Given the description of an element on the screen output the (x, y) to click on. 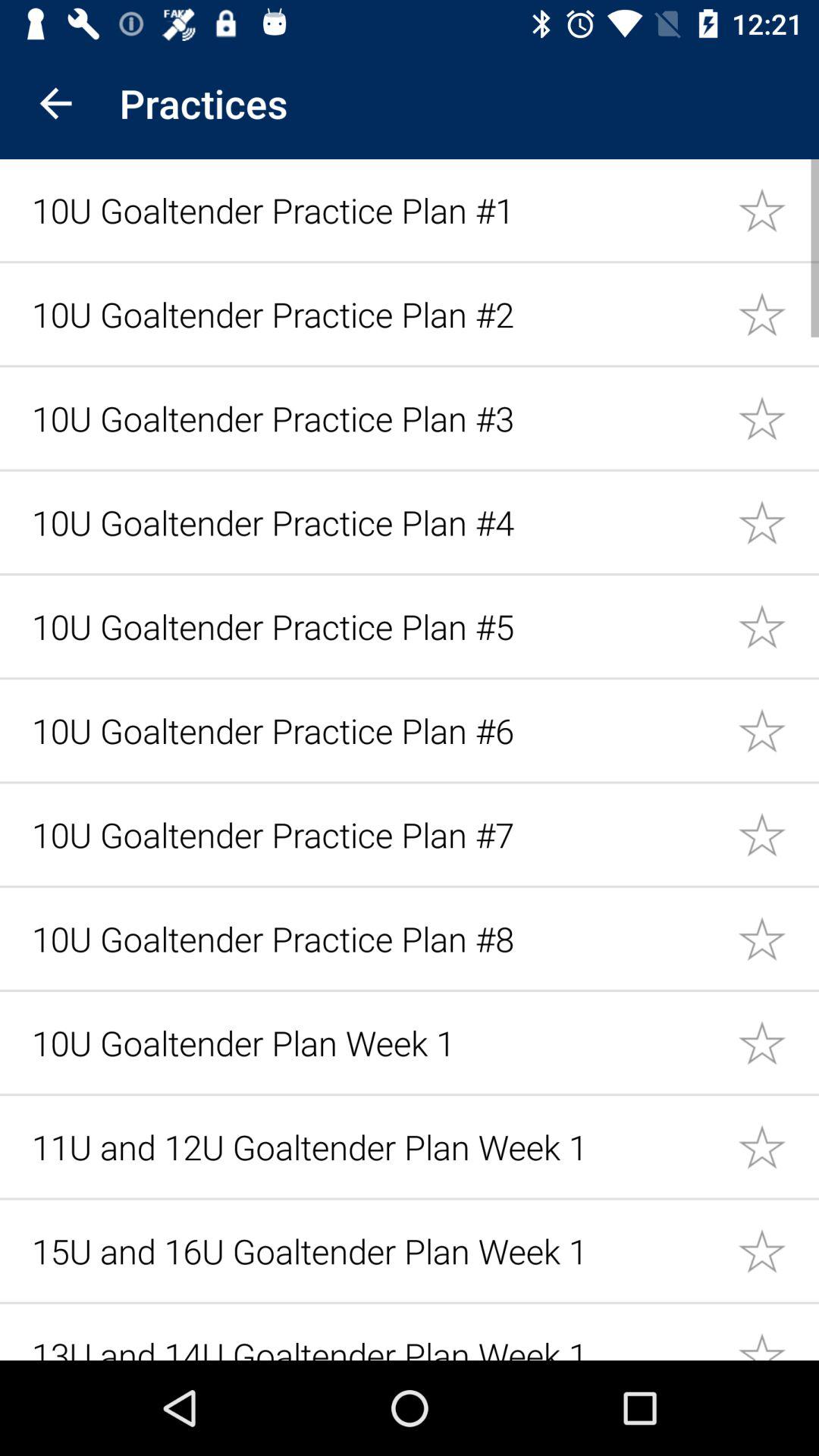
select your practices weeks (778, 1042)
